Given the description of an element on the screen output the (x, y) to click on. 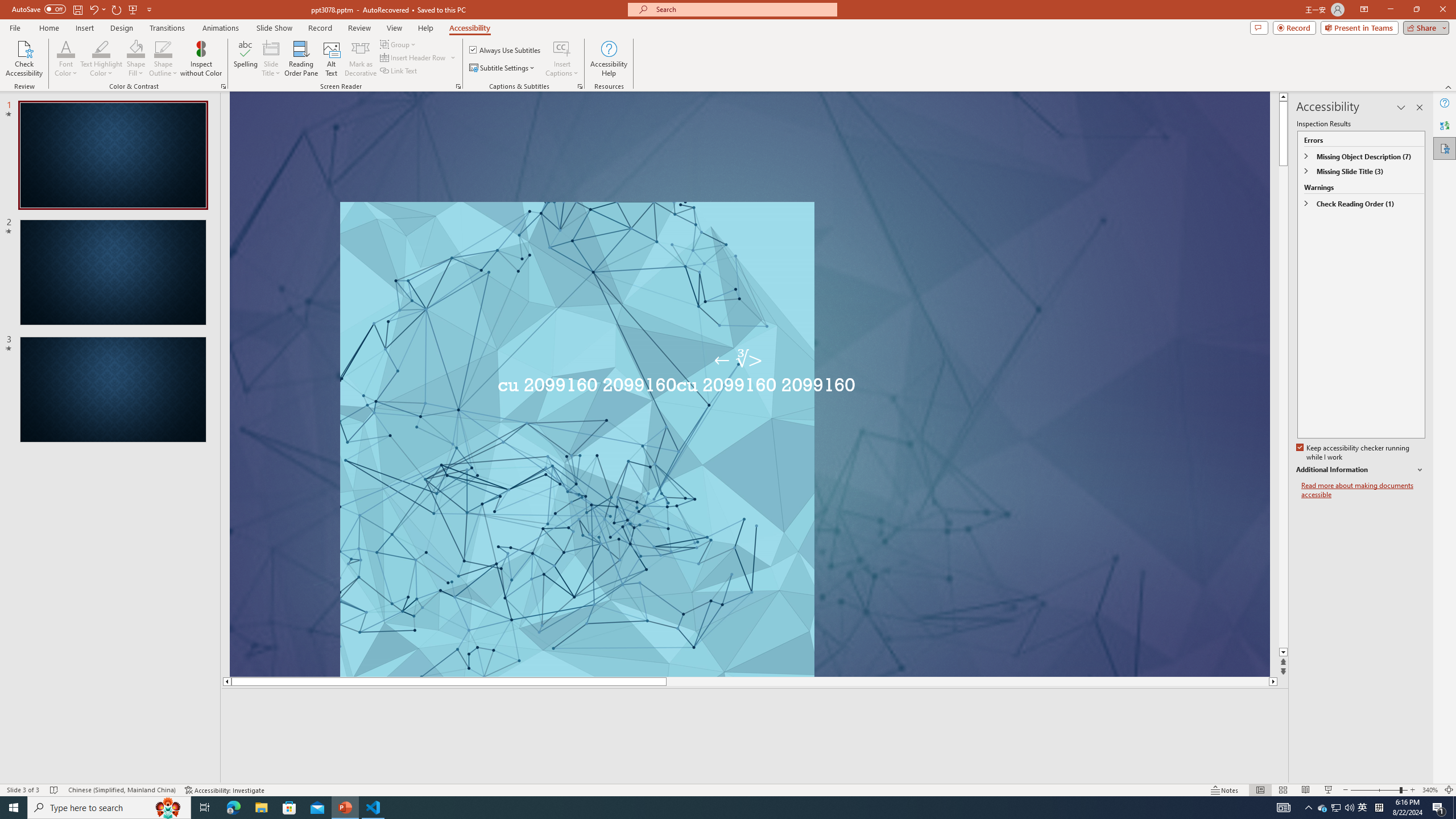
Insert Captions (561, 48)
Mark as Decorative (360, 58)
Captions & Subtitles (580, 85)
Check Accessibility (23, 58)
